Given the description of an element on the screen output the (x, y) to click on. 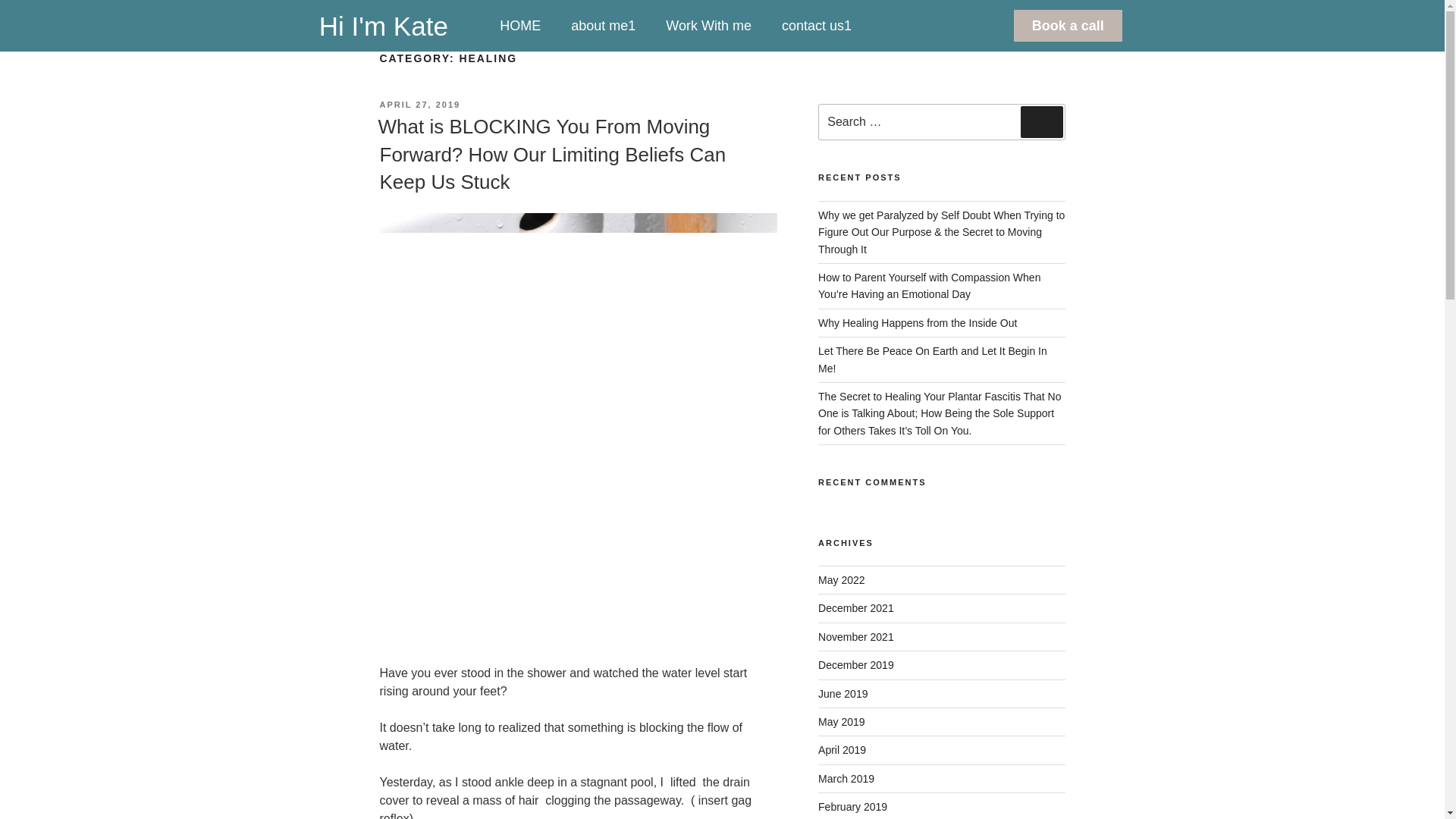
APRIL 27, 2019 (419, 103)
contact us1 (816, 25)
May 2019 (841, 721)
HOME (520, 25)
Work With me (708, 25)
about me1 (603, 25)
December 2019 (855, 664)
December 2021 (855, 607)
Let There Be Peace On Earth and Let It Begin In Me! (932, 358)
